Given the description of an element on the screen output the (x, y) to click on. 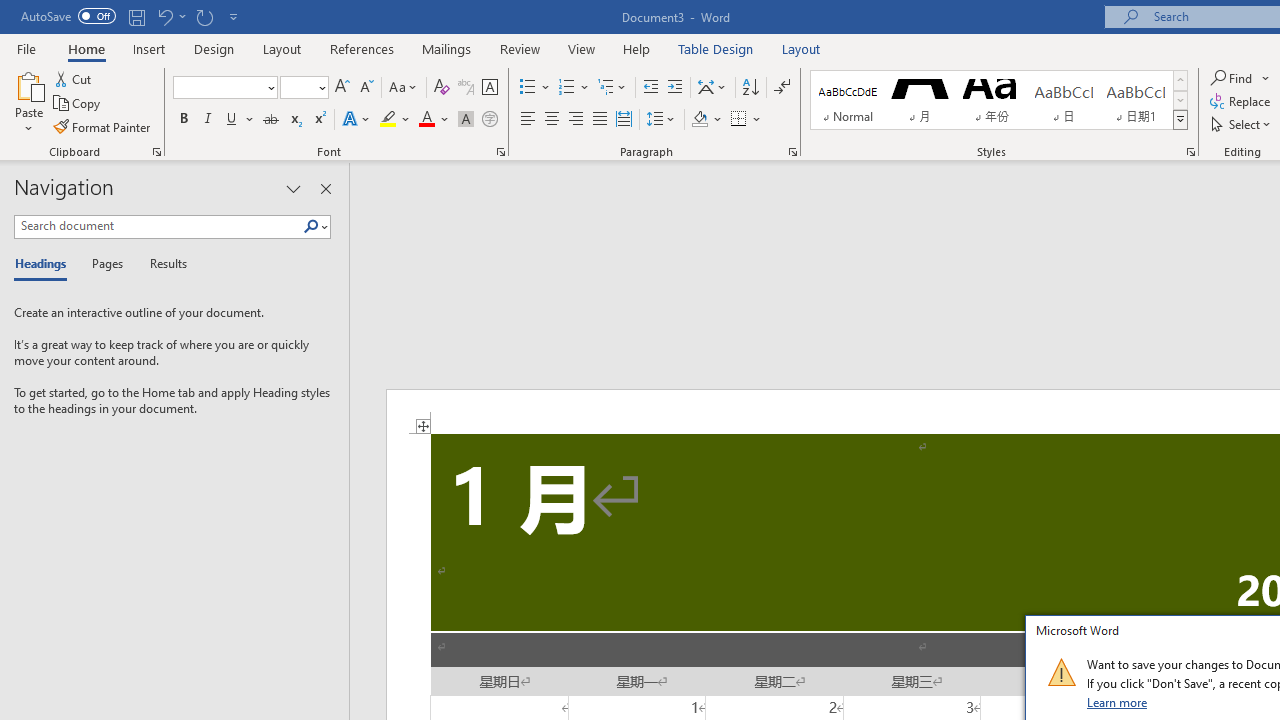
Find (1233, 78)
Cut (73, 78)
Justify (599, 119)
Results (161, 264)
Search (311, 227)
Grow Font (342, 87)
Format Painter (103, 126)
AutoSave (68, 16)
